Given the description of an element on the screen output the (x, y) to click on. 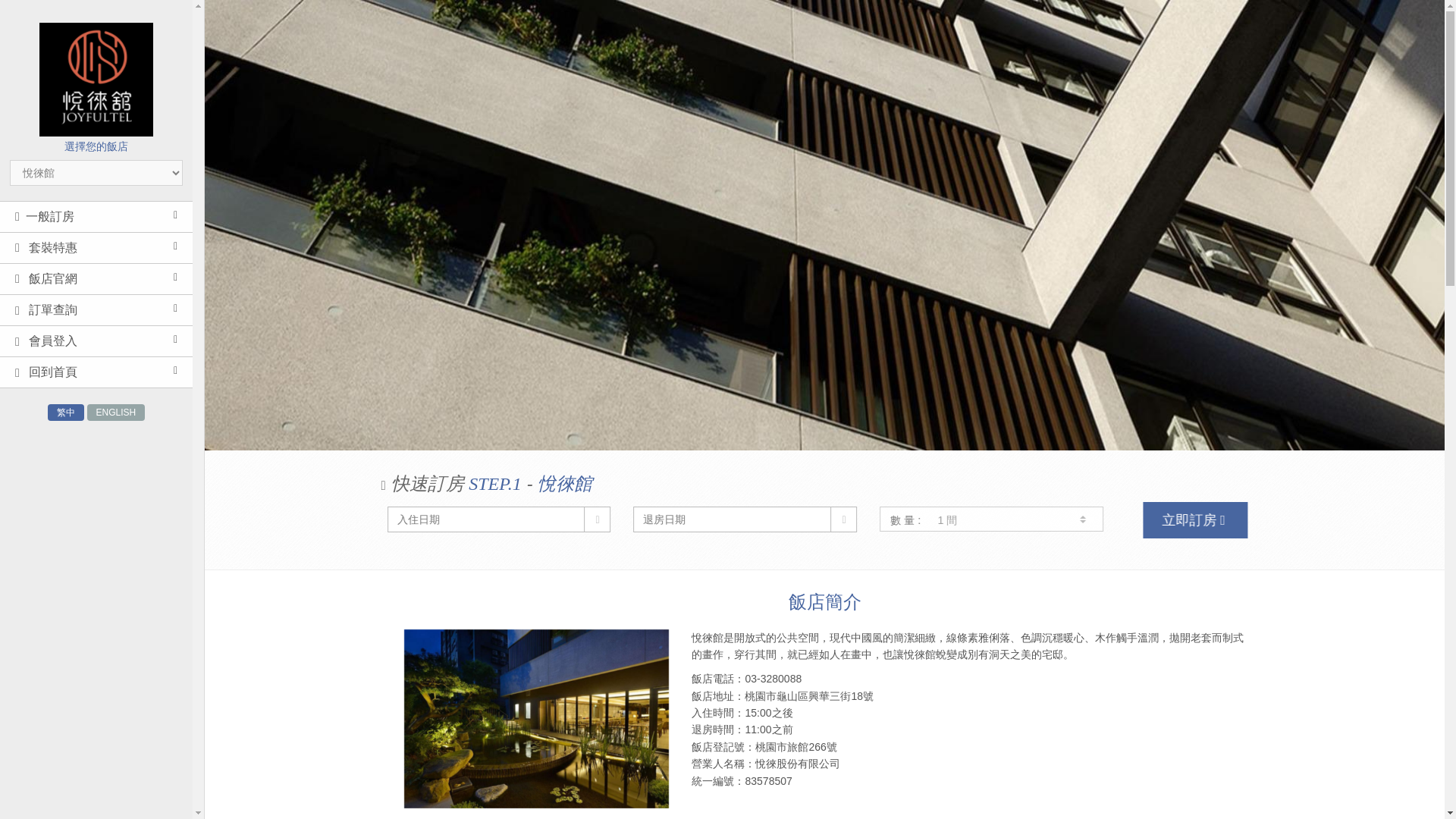
ENGLISH (116, 412)
